Given the description of an element on the screen output the (x, y) to click on. 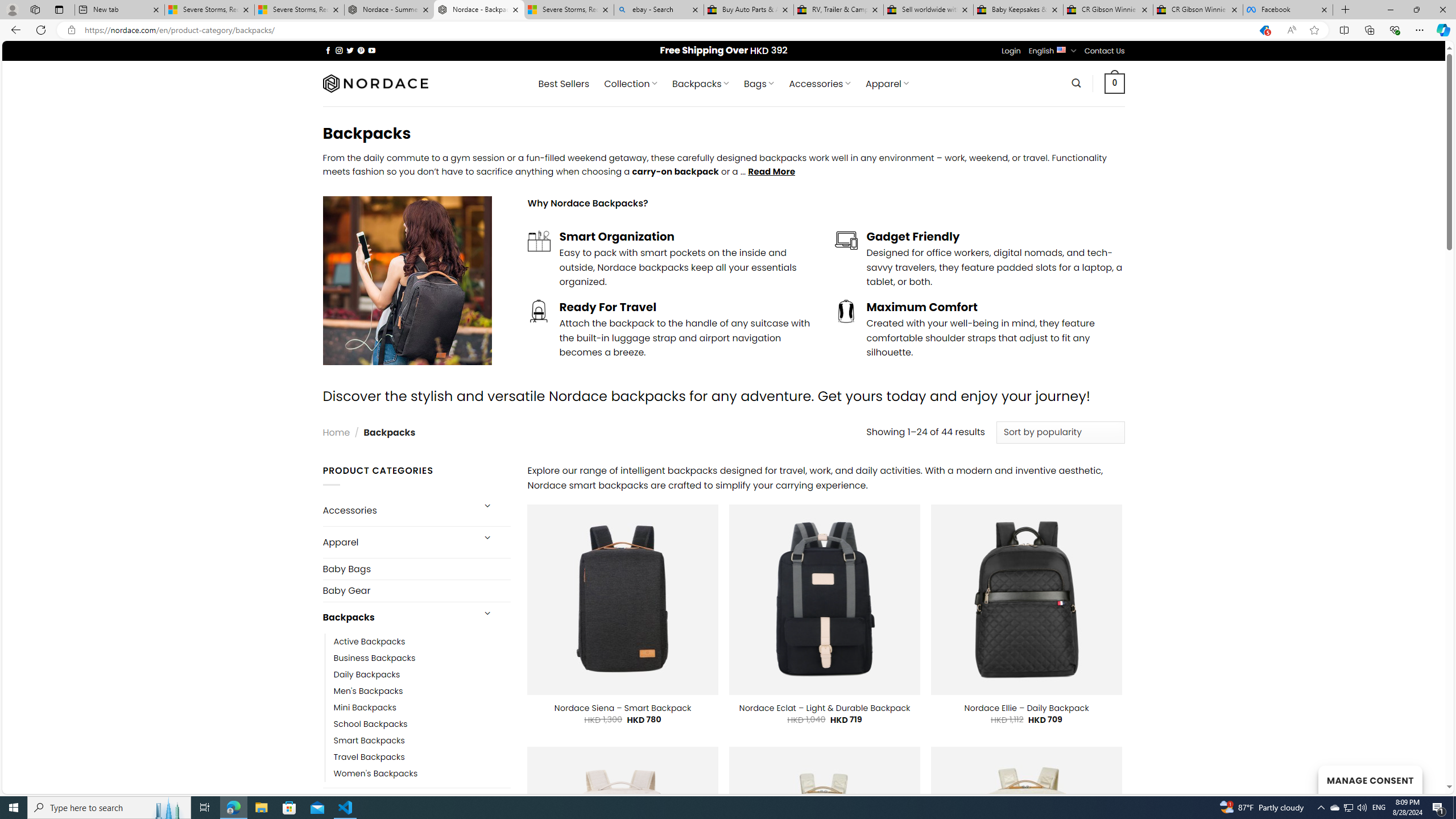
Smart Backpacks (368, 740)
Mini Backpacks (422, 706)
Women's Backpacks (422, 773)
Men's Backpacks (368, 690)
